Given the description of an element on the screen output the (x, y) to click on. 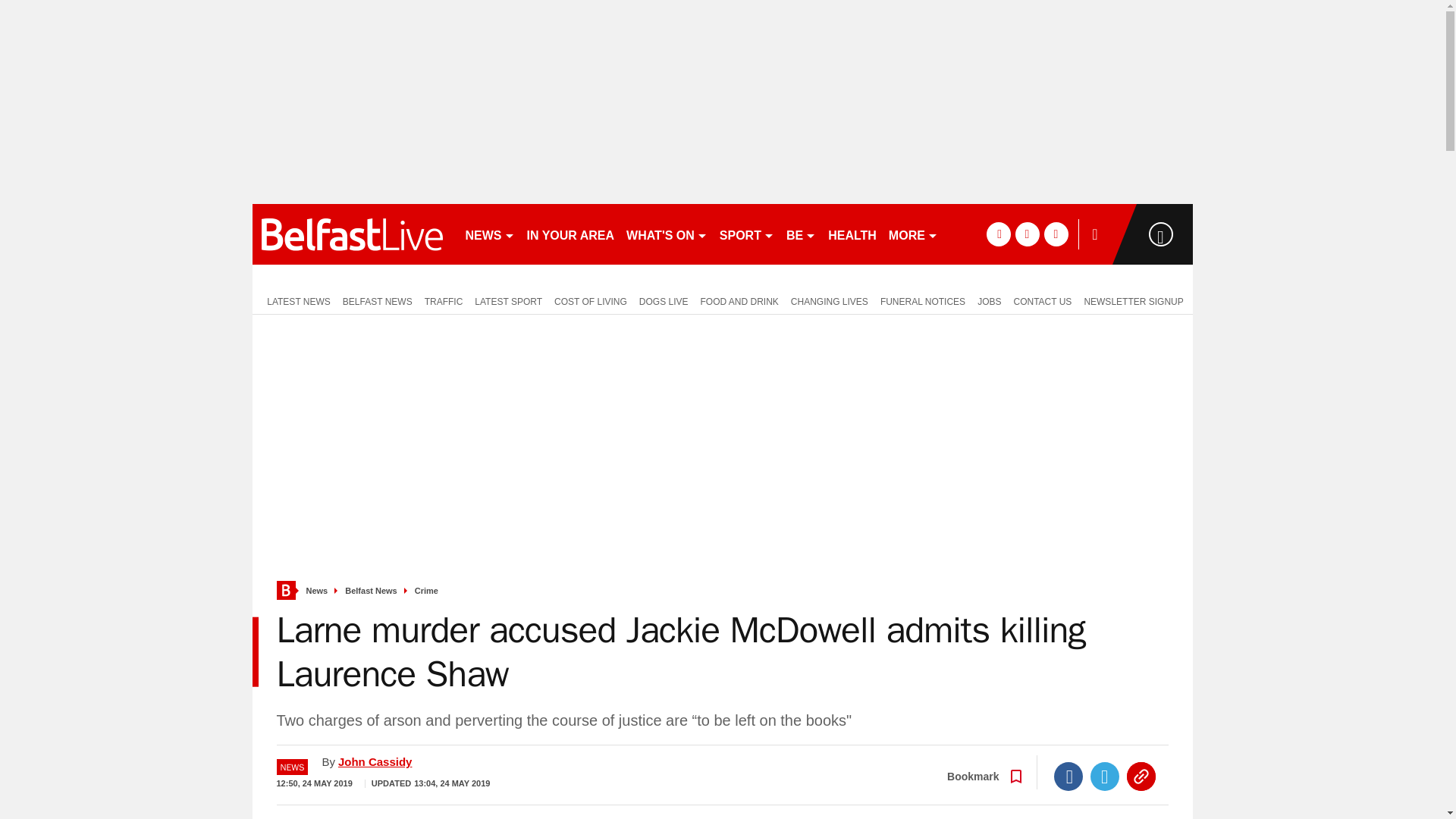
NEWS (490, 233)
Twitter (1104, 776)
belfastlive (351, 233)
SPORT (746, 233)
facebook (997, 233)
Facebook (1068, 776)
WHAT'S ON (666, 233)
twitter (1026, 233)
IN YOUR AREA (569, 233)
instagram (1055, 233)
